Given the description of an element on the screen output the (x, y) to click on. 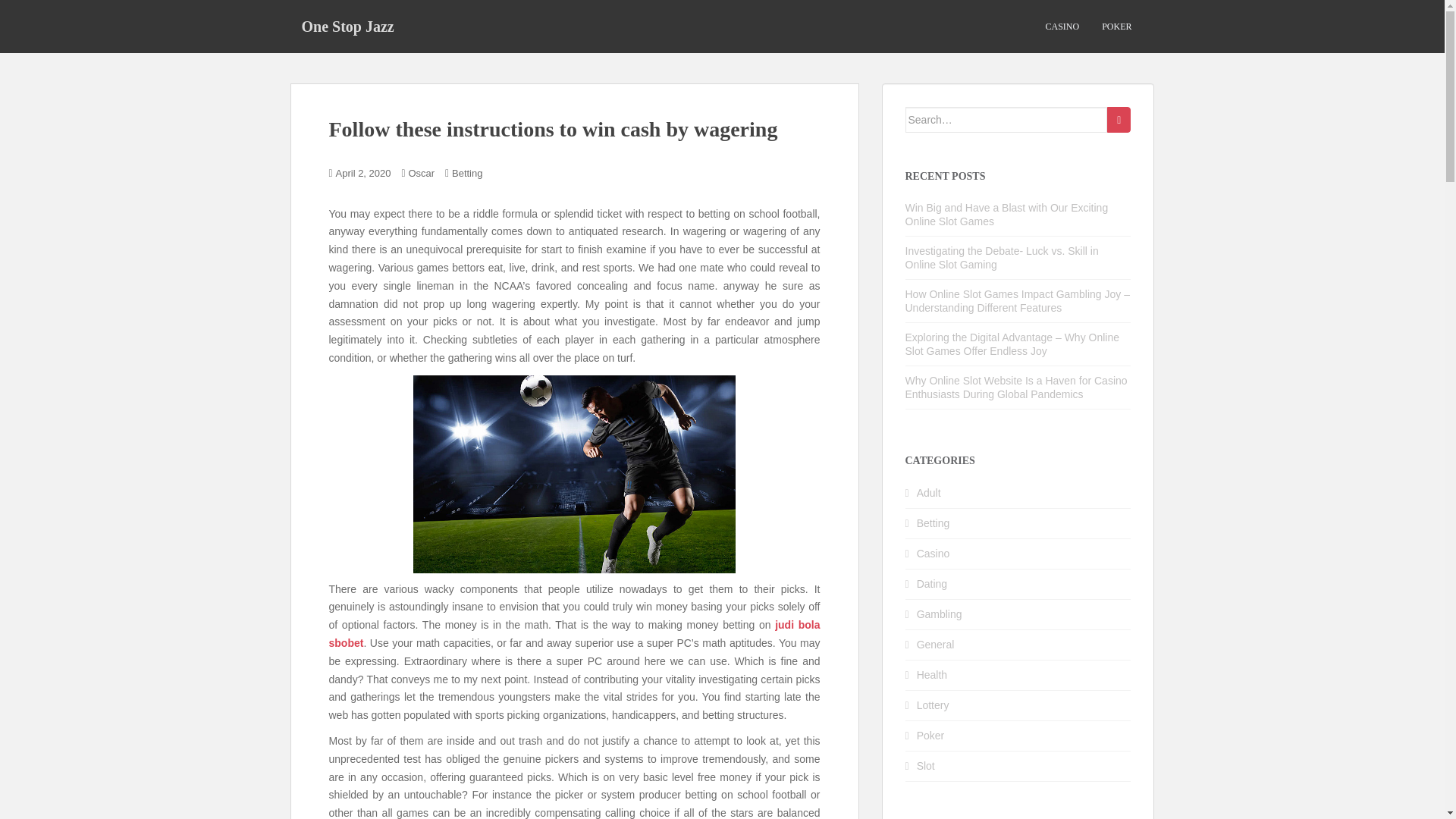
Oscar (420, 173)
Search for: (1006, 119)
Casino (933, 553)
Dating (932, 583)
Betting (933, 522)
Gambling (939, 613)
One Stop Jazz (346, 26)
Slot (925, 766)
General (936, 644)
Adult (928, 492)
